Given the description of an element on the screen output the (x, y) to click on. 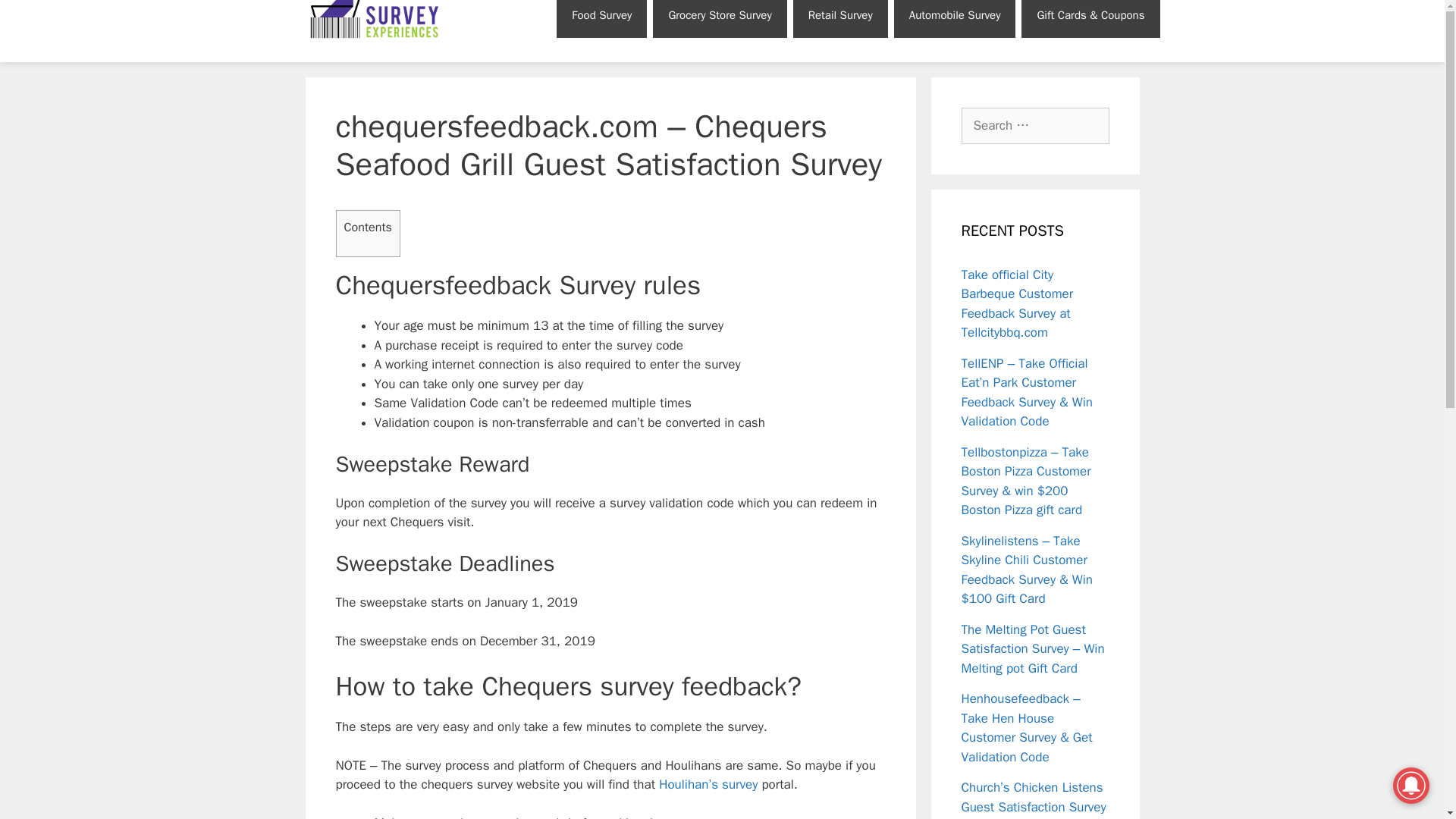
Search (35, 18)
Retail Survey (840, 18)
Search for: (1034, 125)
Food Survey (601, 18)
Automobile Survey (954, 18)
Grocery Store Survey (719, 18)
